Given the description of an element on the screen output the (x, y) to click on. 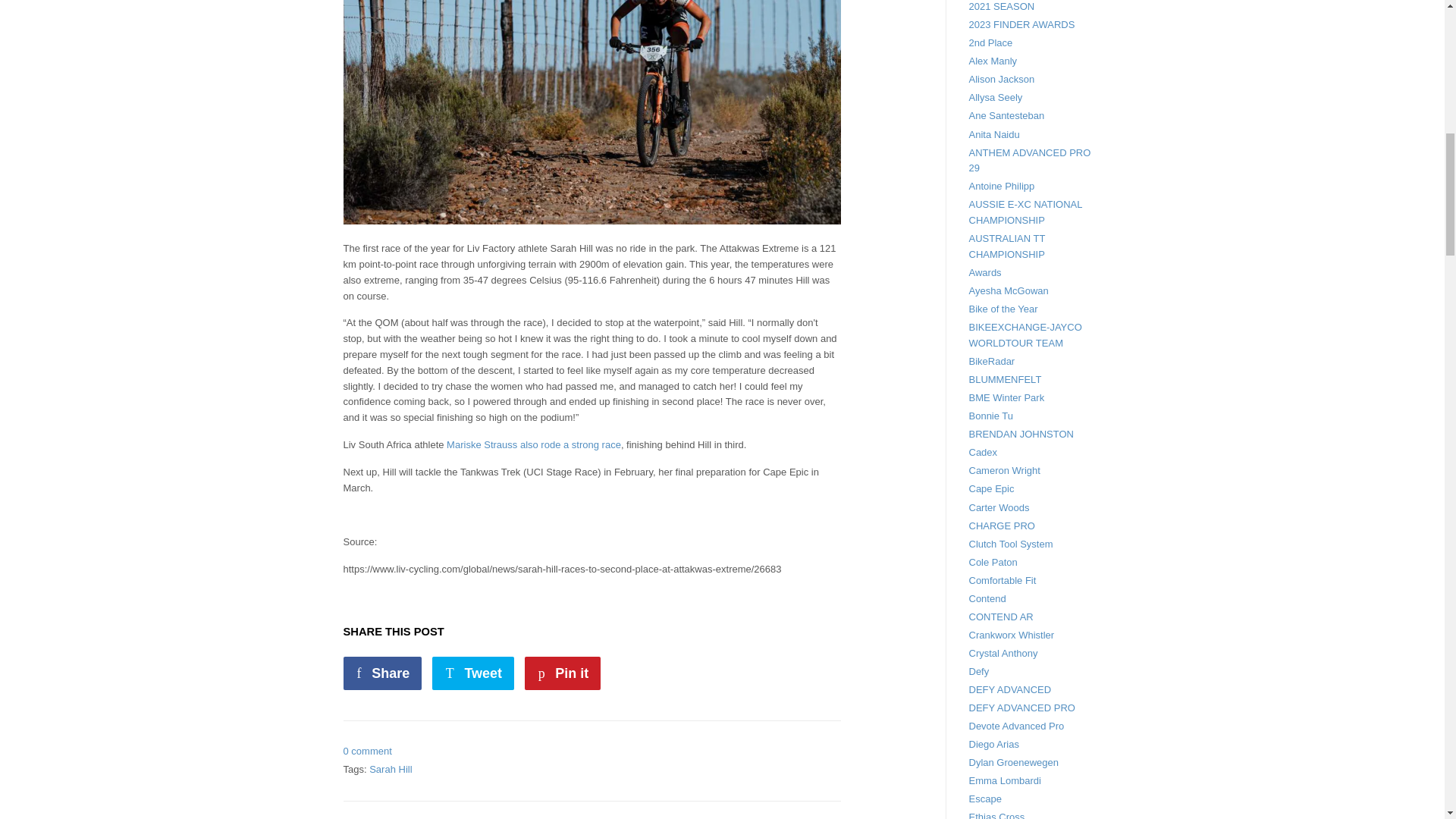
Show articles tagged 2nd Place (991, 42)
Show articles tagged 2021 SEASON (1002, 6)
Show articles tagged Ane Santesteban (1007, 115)
Show articles tagged Allysa Seely (996, 97)
Show articles tagged 2023 FINDER AWARDS (1022, 24)
Show articles tagged Alex Manly (993, 60)
Show articles tagged Alison Jackson (1002, 79)
Tweet on Twitter (472, 673)
Share on Facebook (382, 673)
Show articles tagged Anita Naidu (994, 134)
Pin on Pinterest (562, 673)
